Given the description of an element on the screen output the (x, y) to click on. 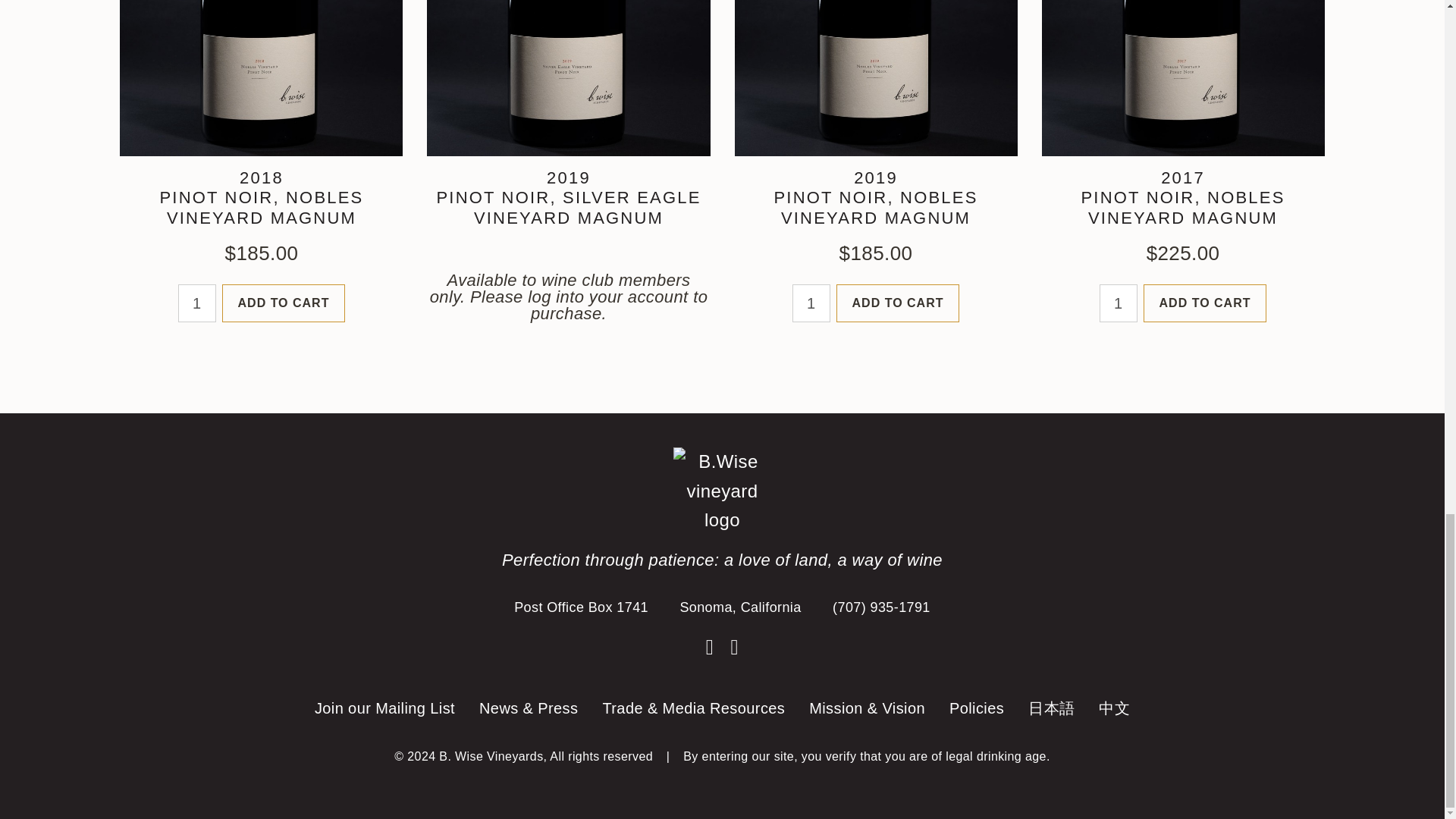
1 (1118, 303)
1 (810, 303)
1 (196, 303)
